Given the description of an element on the screen output the (x, y) to click on. 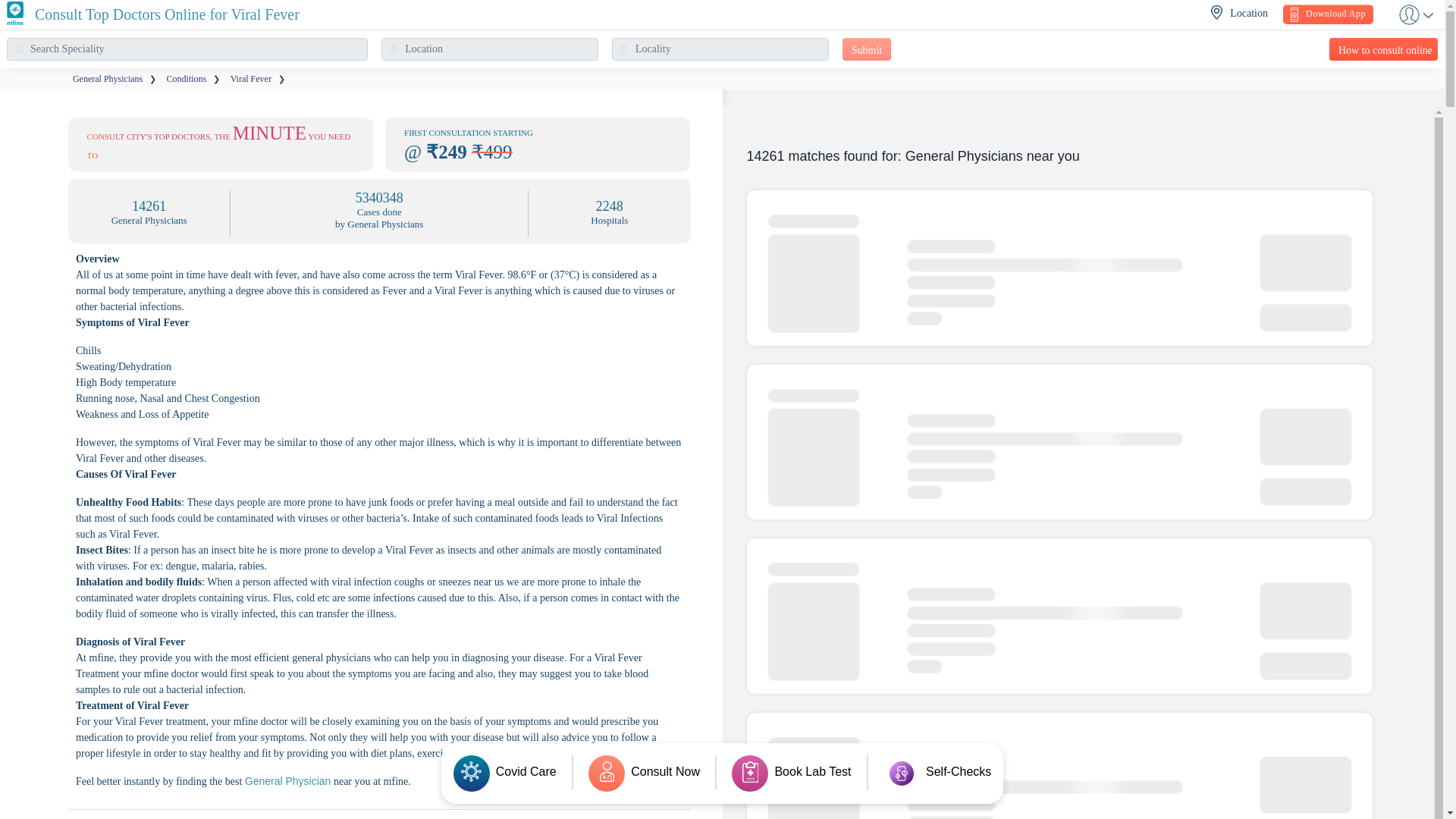
How to consult online (1383, 48)
Conditions (186, 78)
Submit (867, 48)
Download App (1327, 14)
General Physician (287, 780)
Viral Fever (250, 78)
General Physicians (107, 78)
